Given the description of an element on the screen output the (x, y) to click on. 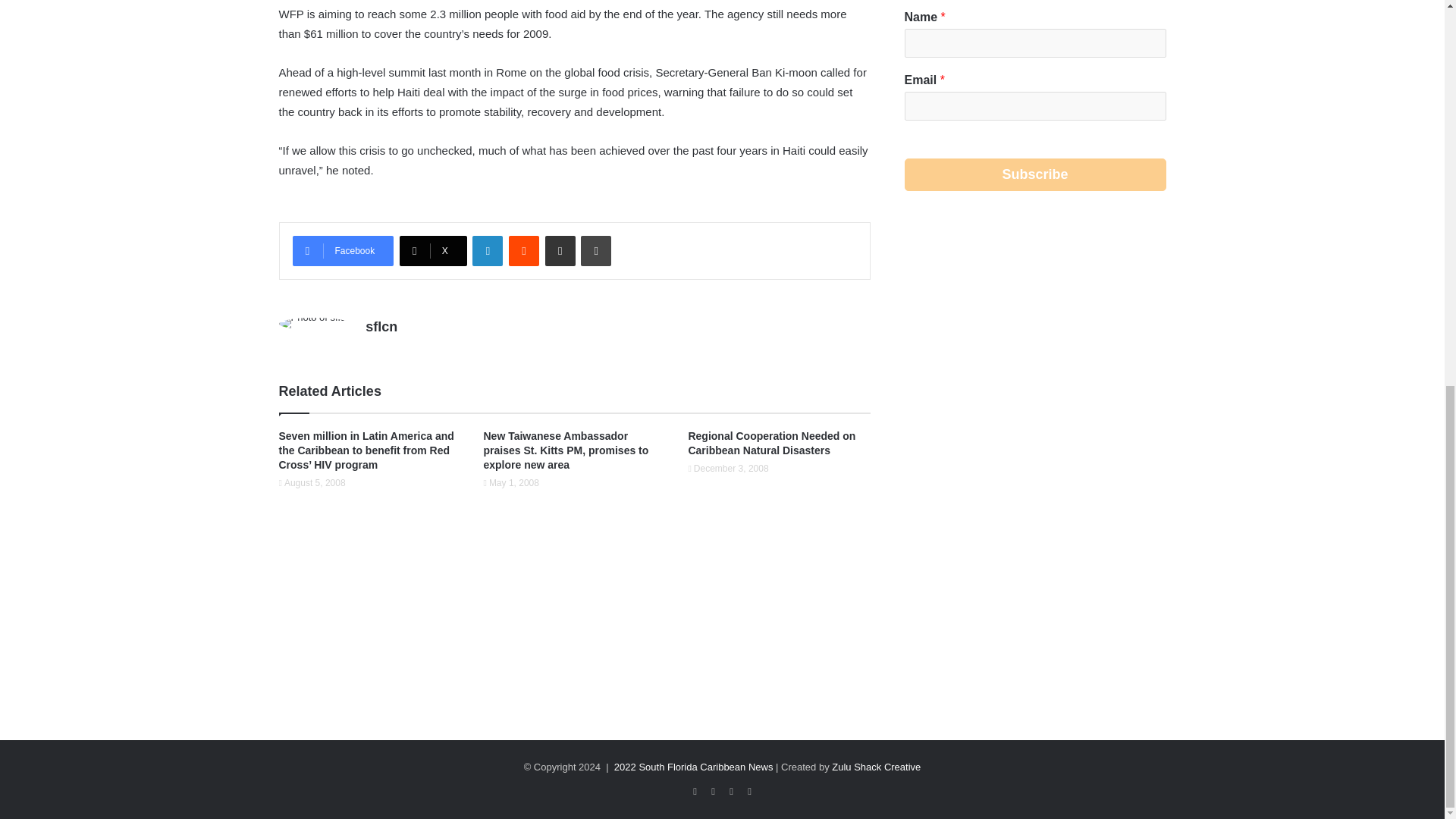
LinkedIn (486, 250)
Facebook (343, 250)
Reddit (523, 250)
LinkedIn (486, 250)
Share via Email (559, 250)
X (432, 250)
3rd party ad content (1034, 341)
X (432, 250)
Reddit (523, 250)
Print (595, 250)
Facebook (343, 250)
Share via Email (559, 250)
